Given the description of an element on the screen output the (x, y) to click on. 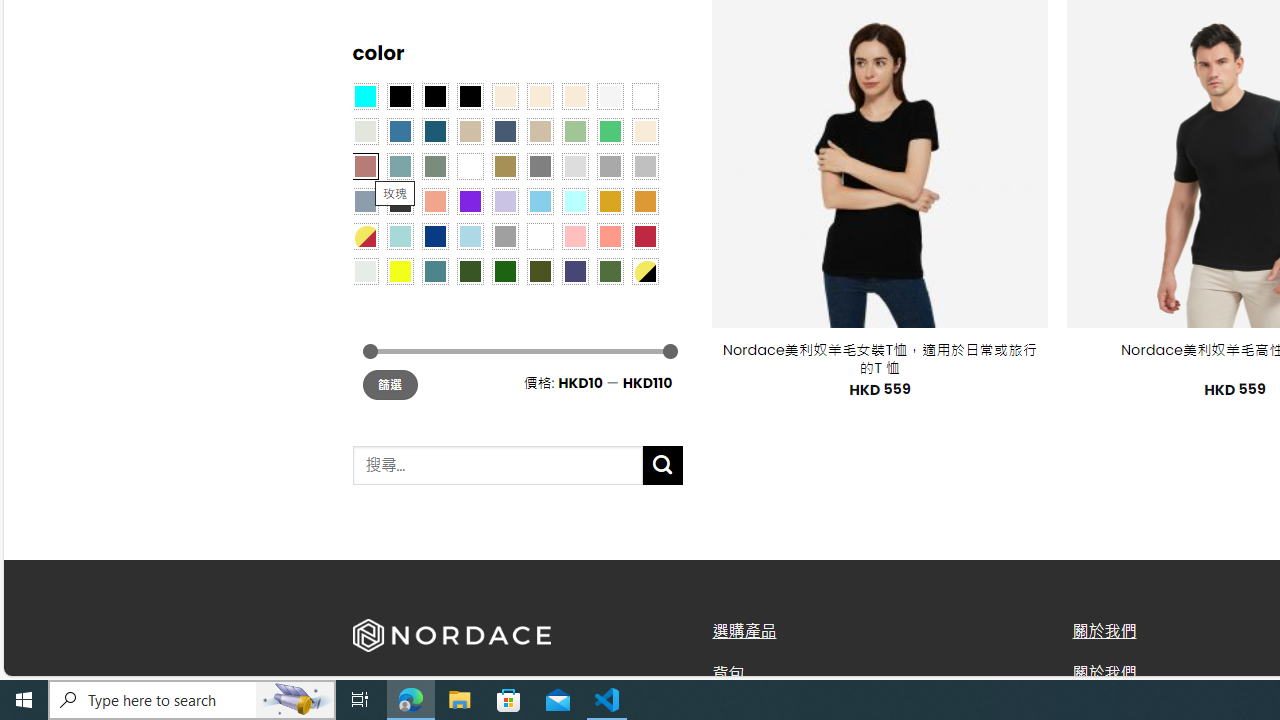
Cream (574, 95)
